Given the description of an element on the screen output the (x, y) to click on. 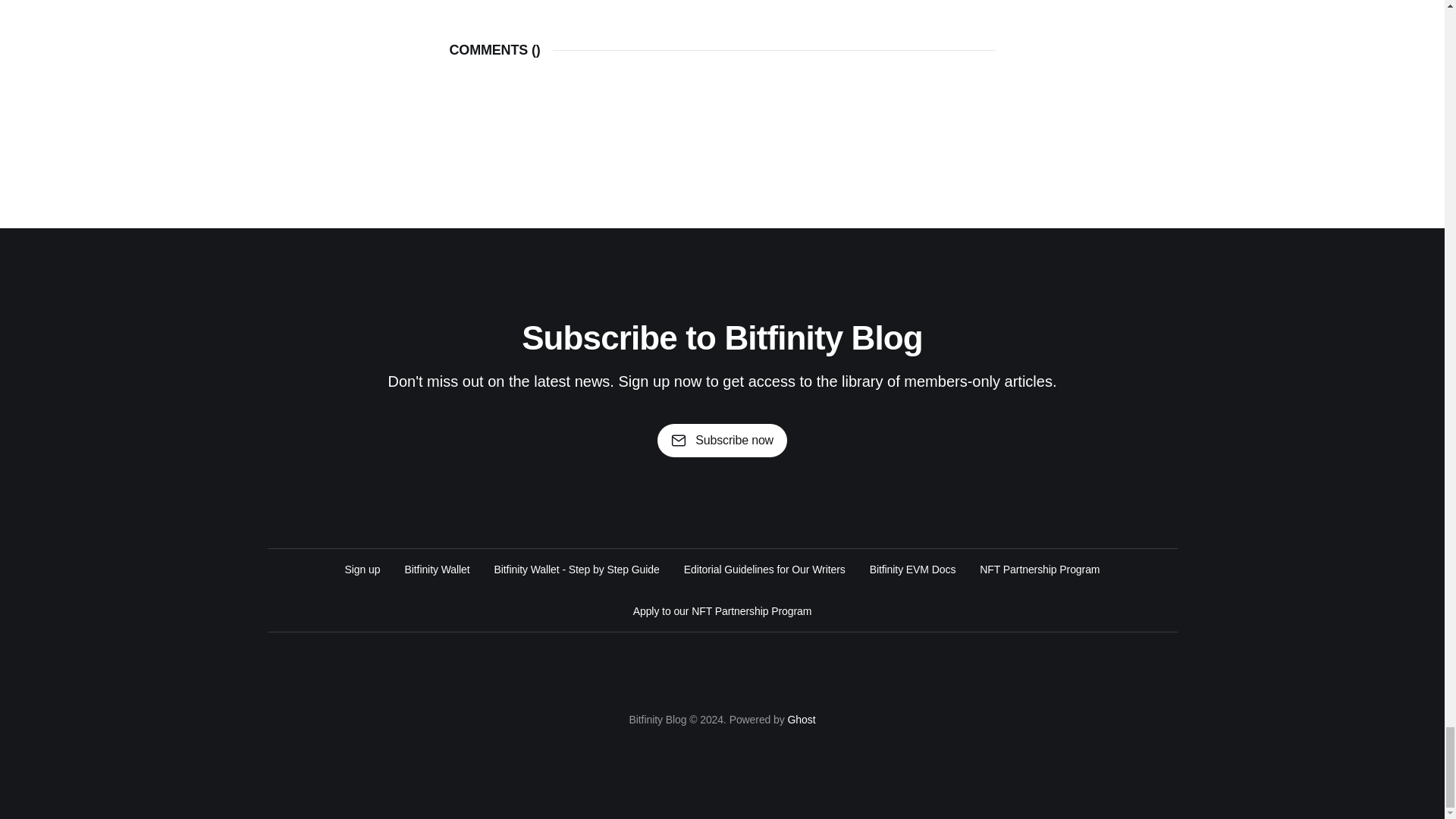
Ghost (801, 719)
Sign up (362, 569)
Editorial Guidelines for Our Writers (764, 569)
Bitfinity EVM Docs (912, 569)
Apply to our NFT Partnership Program (722, 610)
Bitfinity Wallet (436, 569)
NFT Partnership Program (1039, 569)
Subscribe now (722, 440)
Bitfinity Wallet - Step by Step Guide (577, 569)
